Given the description of an element on the screen output the (x, y) to click on. 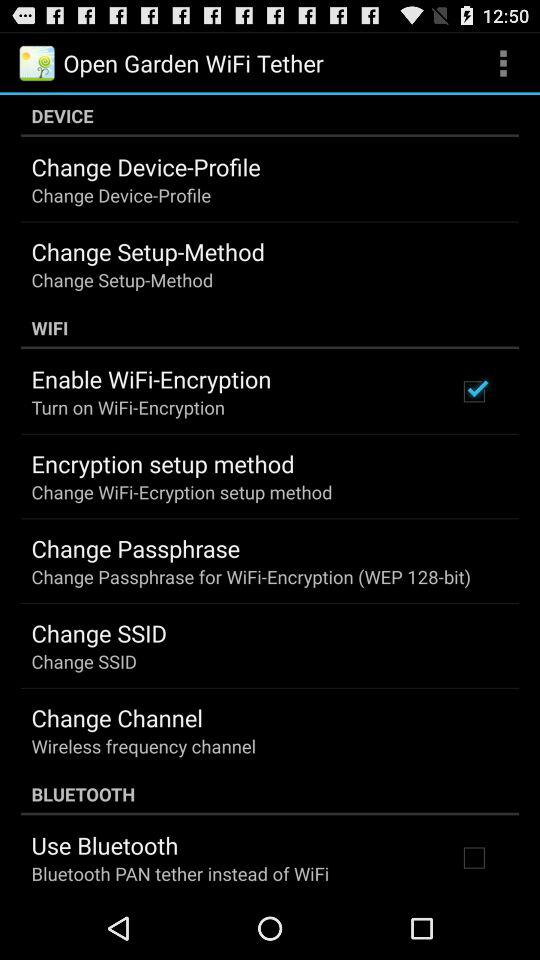
turn off the icon above the device (503, 62)
